Given the description of an element on the screen output the (x, y) to click on. 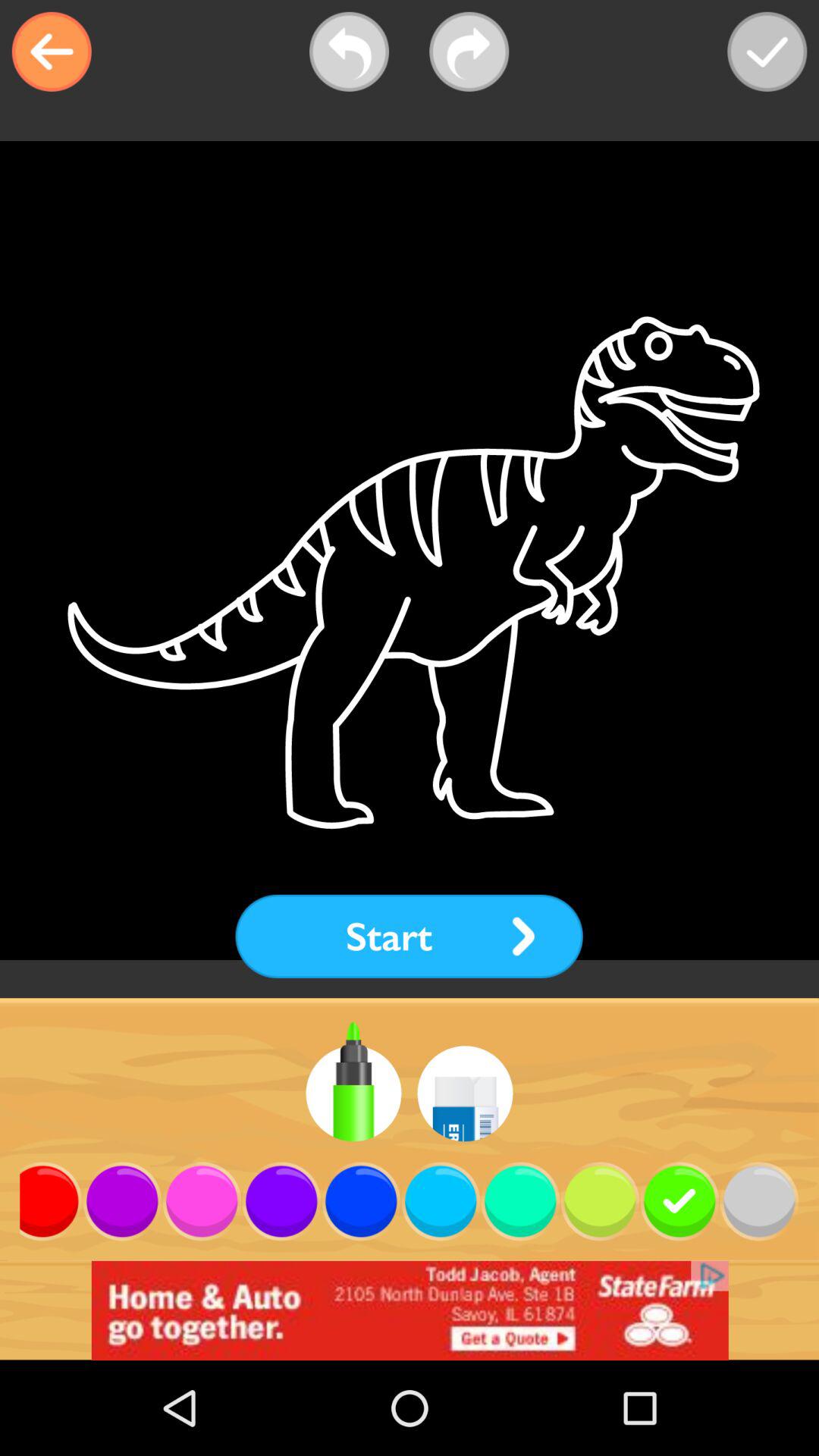
select picture (767, 51)
